Given the description of an element on the screen output the (x, y) to click on. 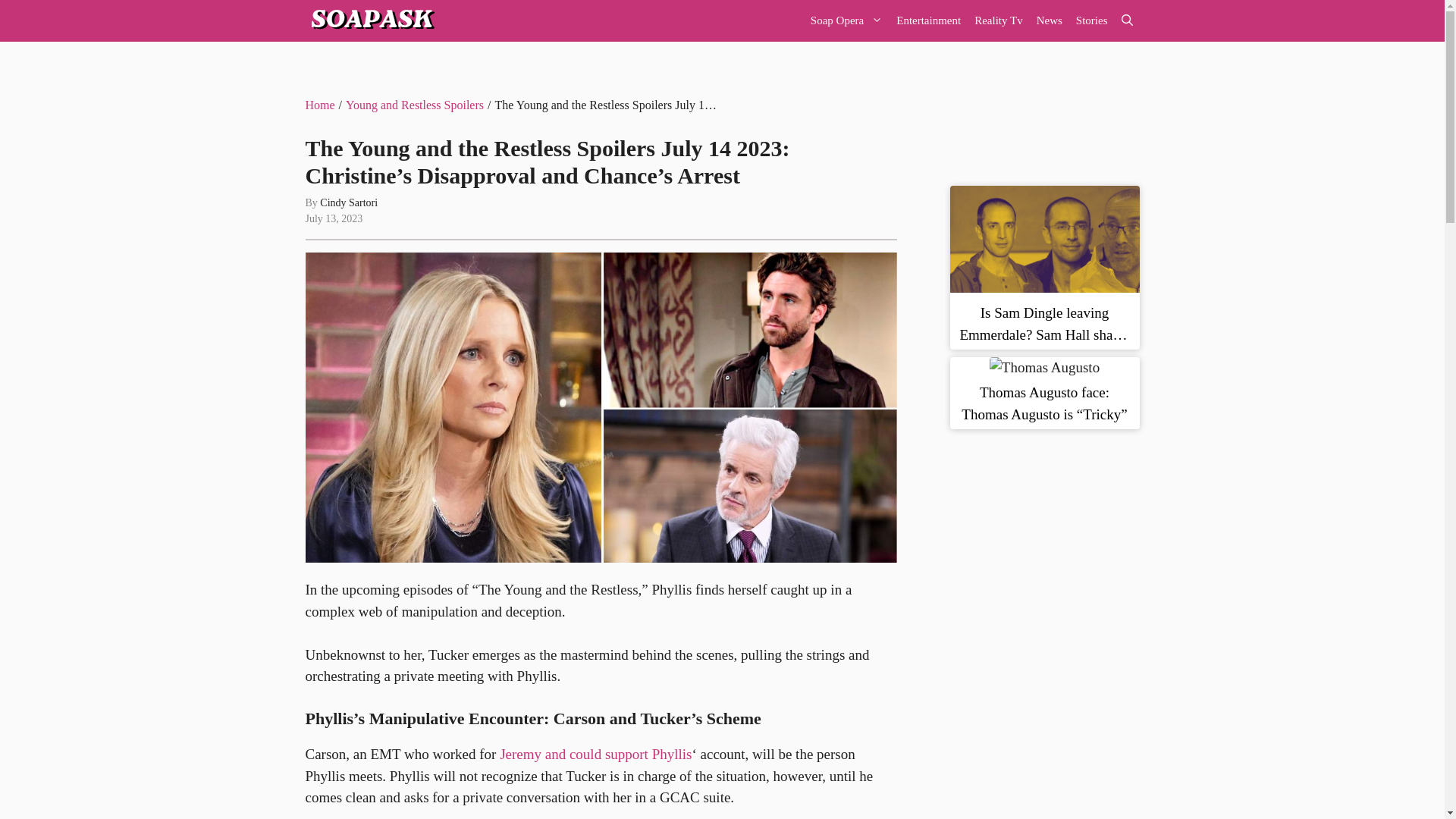
SoapAsk (370, 20)
View all posts by Cindy Sartori (348, 202)
Soap Opera (846, 20)
